Given the description of an element on the screen output the (x, y) to click on. 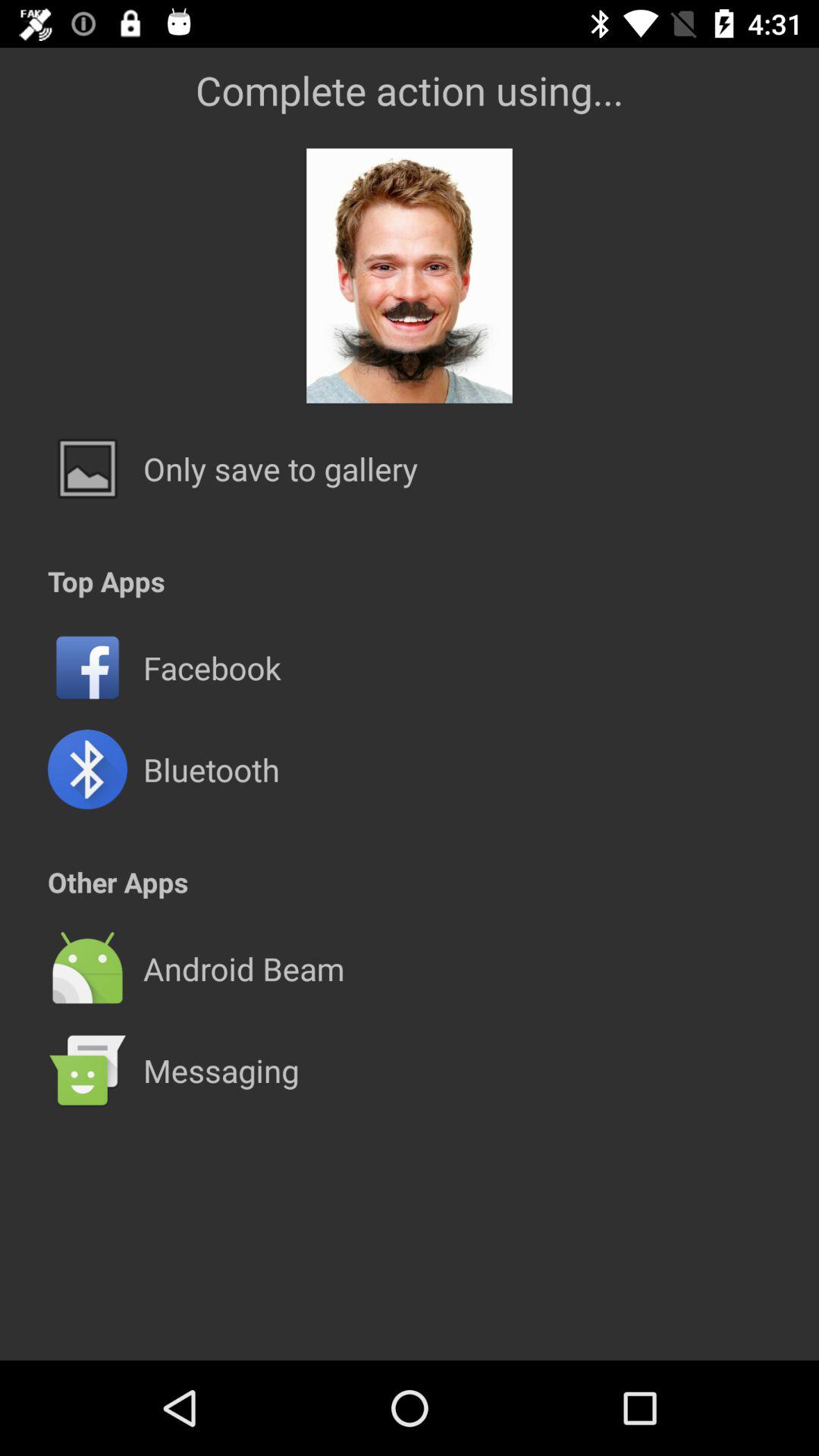
choose top apps app (105, 581)
